Given the description of an element on the screen output the (x, y) to click on. 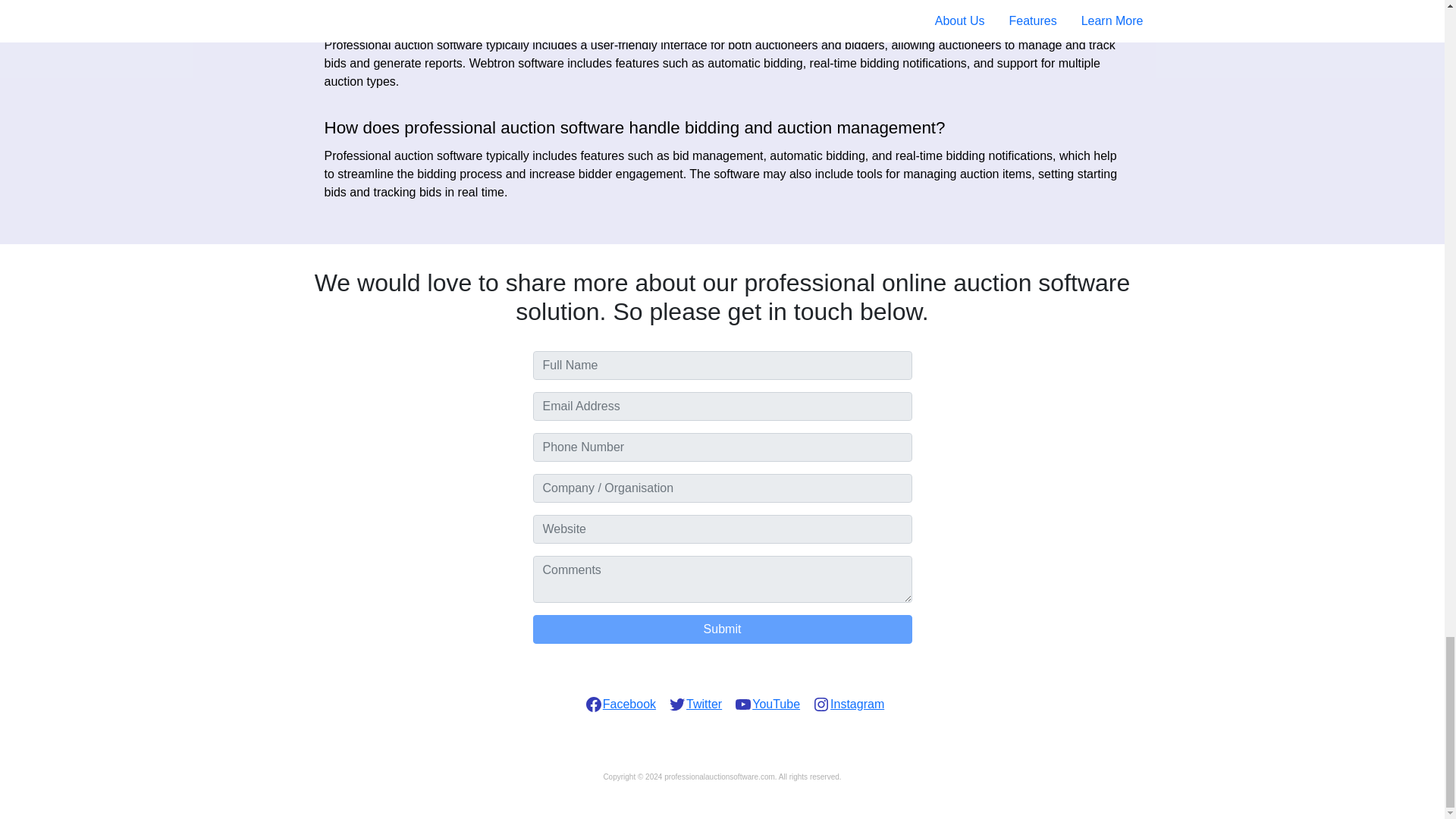
YouTube (766, 704)
Submit (721, 629)
Instagram (847, 704)
Twitter (695, 704)
Facebook (619, 704)
